Given the description of an element on the screen output the (x, y) to click on. 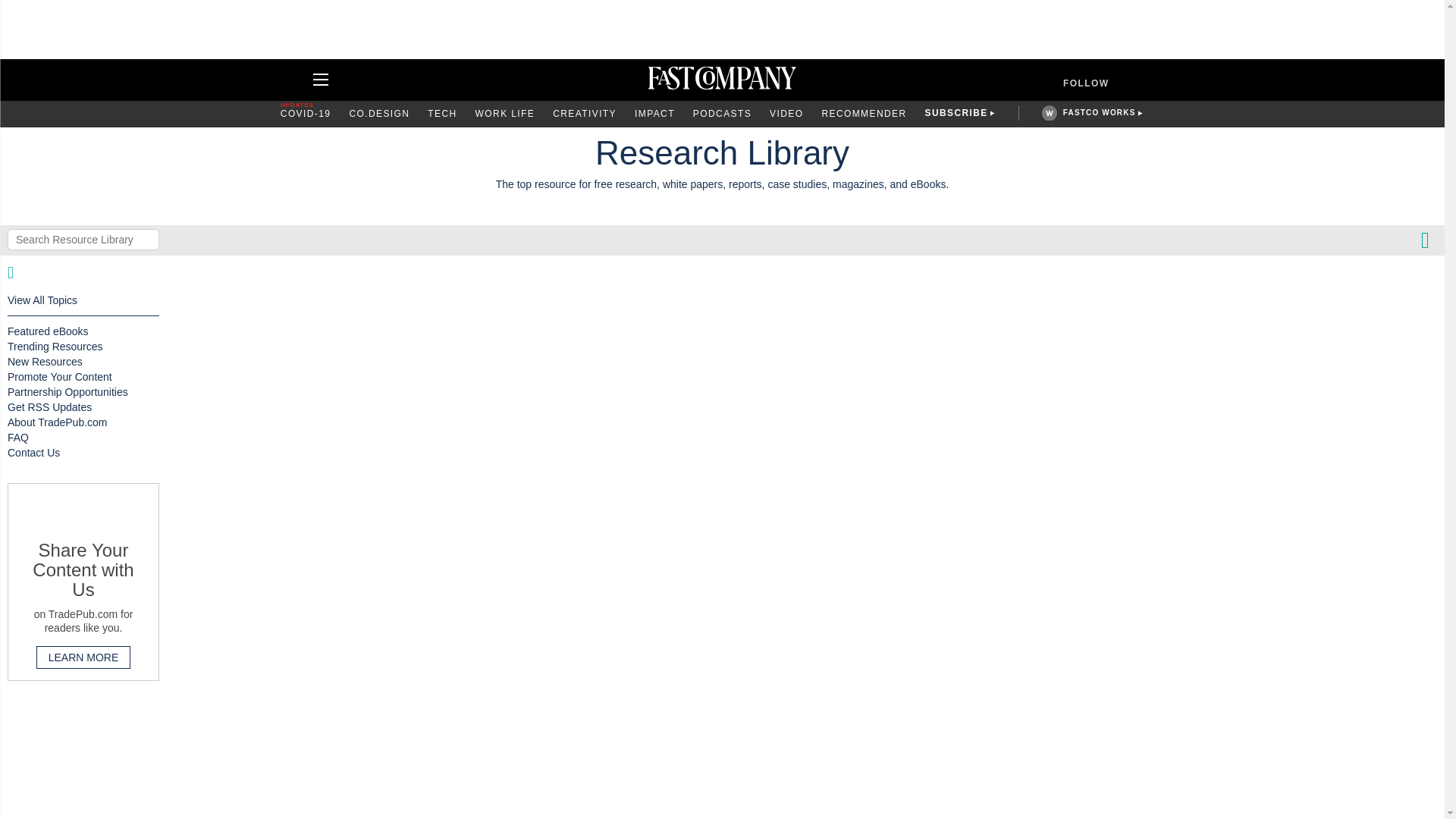
PODCASTS (722, 113)
RECOMMENDER (863, 113)
TECH (442, 113)
Fast Company (721, 79)
Creativity (584, 113)
VIDEO (786, 113)
COVID-19 (306, 113)
WORK LIFE (505, 113)
COVID-19 (306, 113)
CO.DESIGN (379, 113)
SUBSCRIBE (956, 113)
Recommender (863, 113)
Tech (442, 113)
Podcasts (722, 113)
FASTCO WORKS (1098, 112)
